Given the description of an element on the screen output the (x, y) to click on. 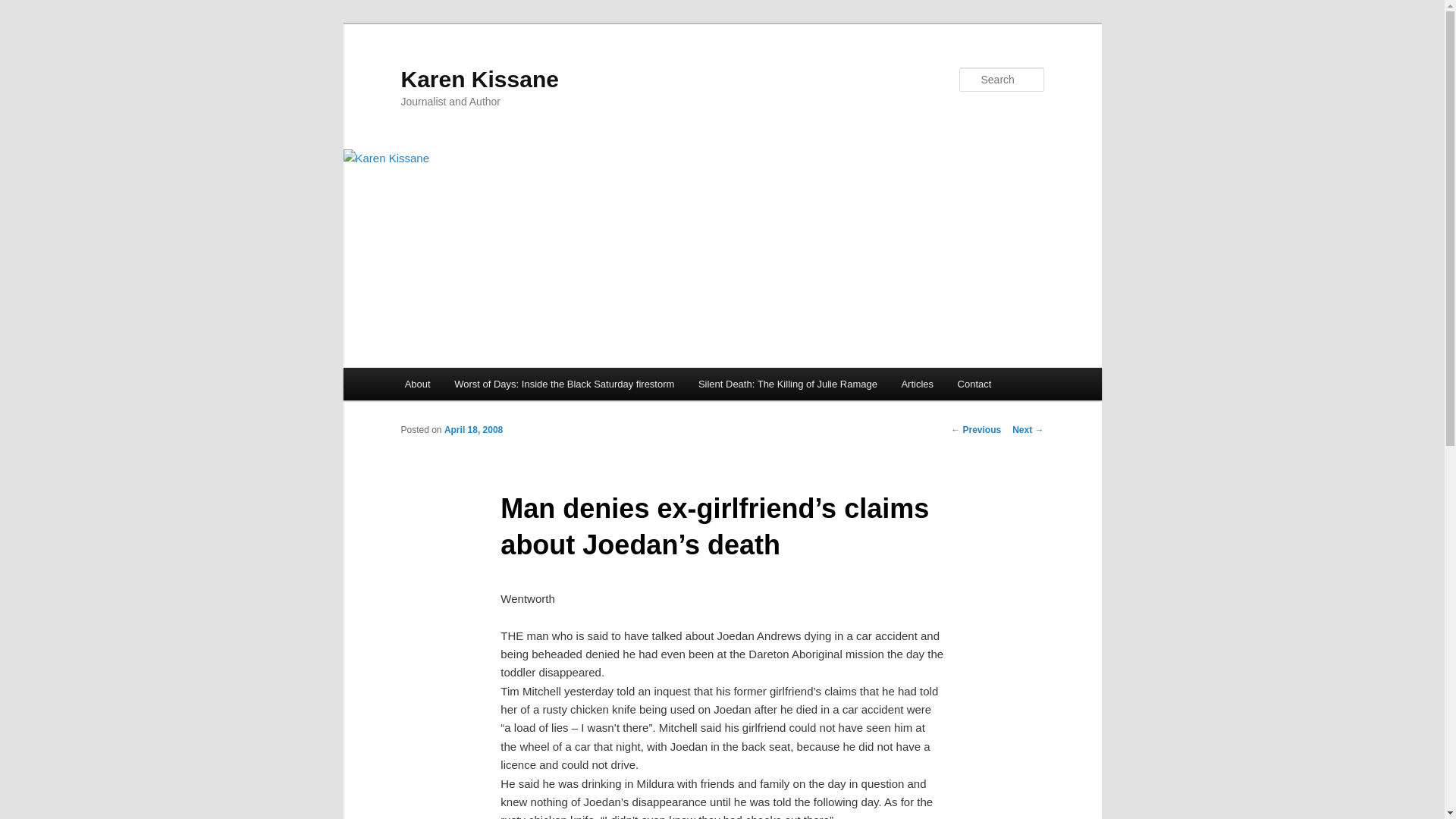
Silent Death: The Killing of Julie Ramage (787, 383)
2:08 am (473, 429)
Articles (916, 383)
Karen Kissane (478, 78)
Contact (973, 383)
About (417, 383)
Worst of Days: Inside the Black Saturday firestorm (563, 383)
Search (24, 8)
April 18, 2008 (473, 429)
